Given the description of an element on the screen output the (x, y) to click on. 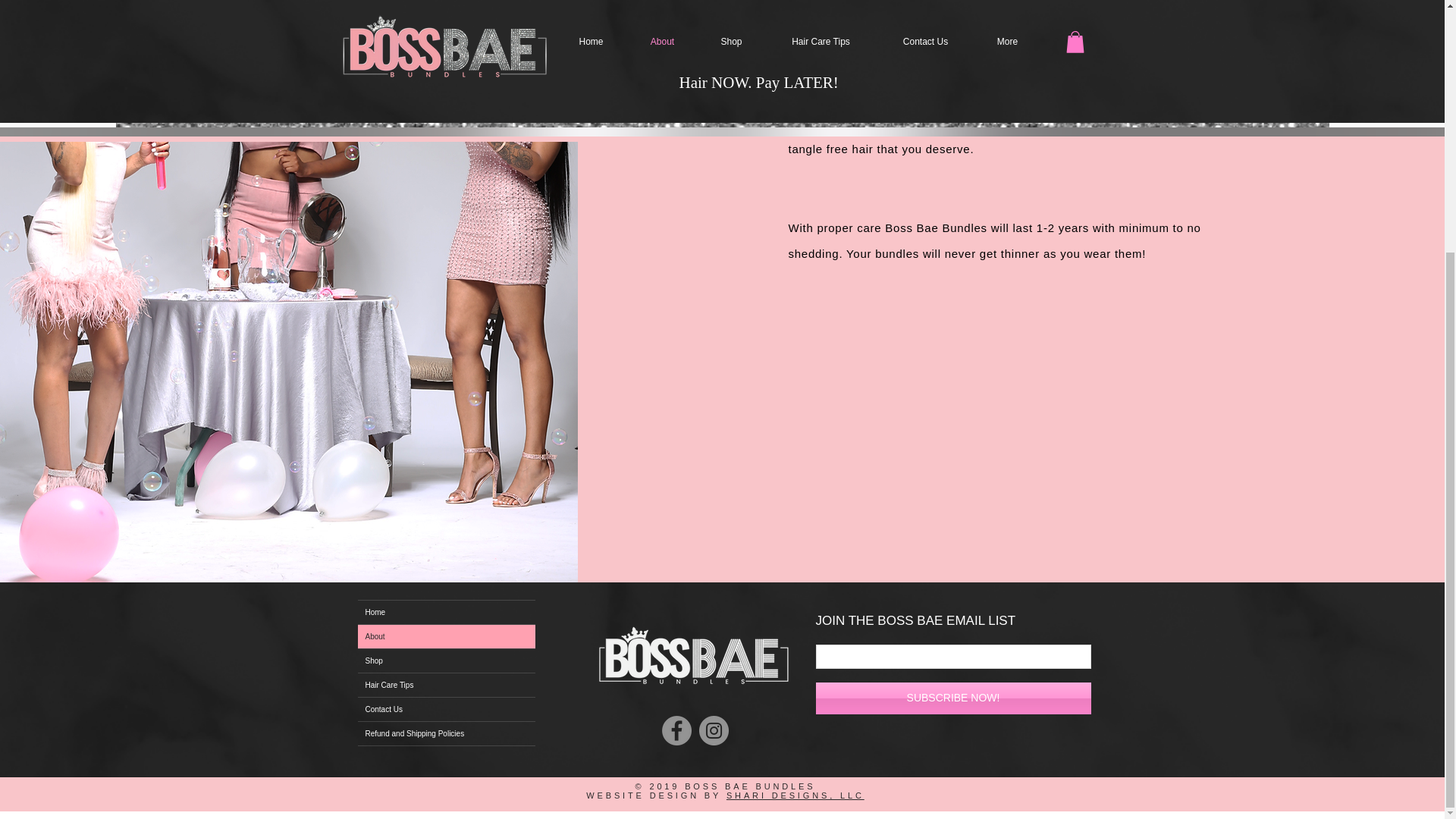
Refund and Shipping Policies (446, 733)
Hair Care Tips (446, 684)
SUBSCRIBE NOW! (952, 698)
About (446, 636)
Contact Us (446, 709)
Home (446, 612)
SHARI DESIGNS, LLC (795, 795)
